Given the description of an element on the screen output the (x, y) to click on. 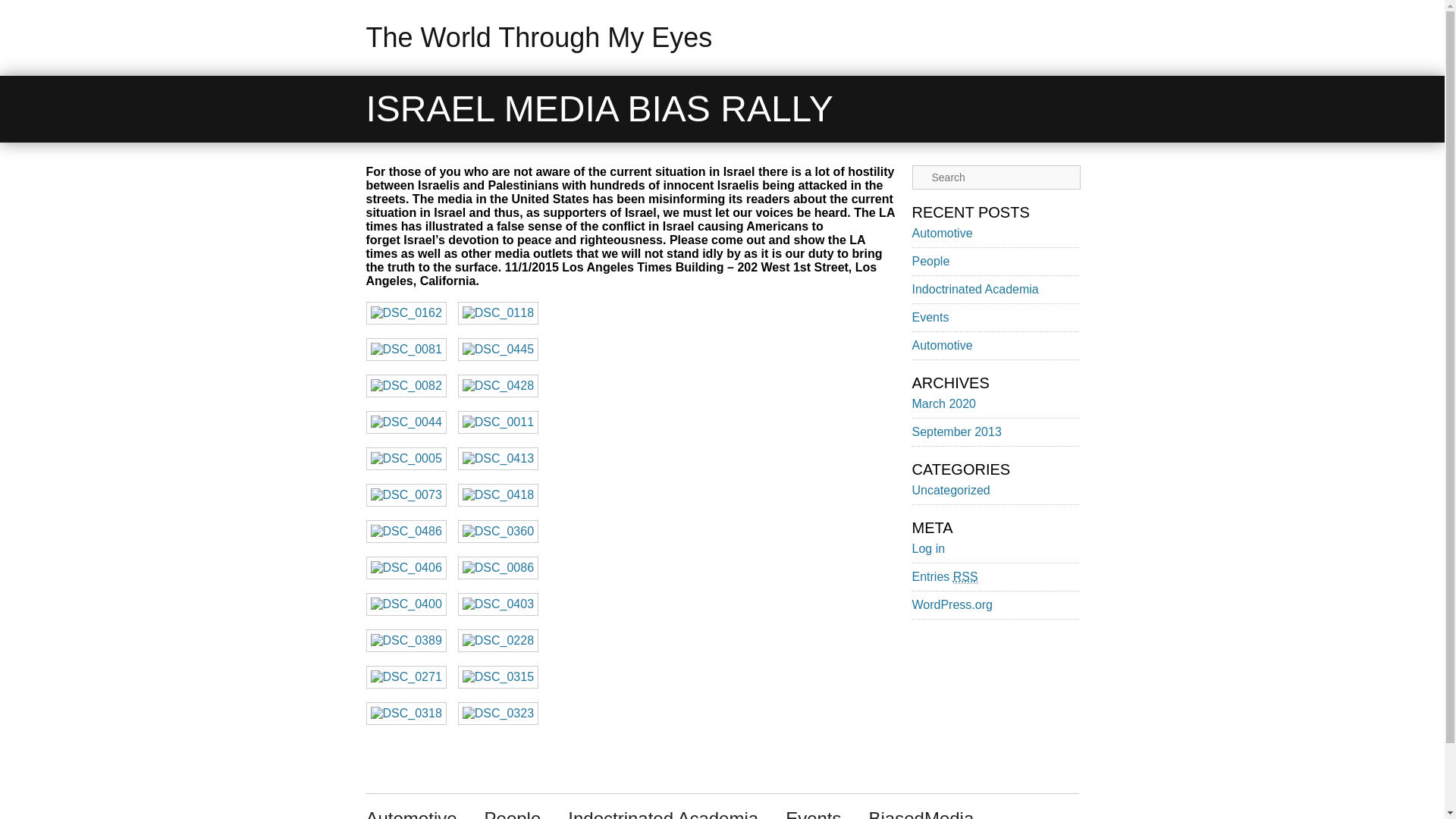
March 2020 (943, 403)
Biased Media Against Israel at the LA Times Building  (405, 385)
Search (21, 7)
Biased Media Against Israel at the LA Times Building  (405, 422)
Biased Media Against Israel at the LA Times Building  (498, 458)
Automotive (941, 232)
Indoctrinated Academia (974, 288)
The World Through My Eyes (538, 37)
Biased Media Against Israel at the LA Times Building  (405, 349)
